Given the description of an element on the screen output the (x, y) to click on. 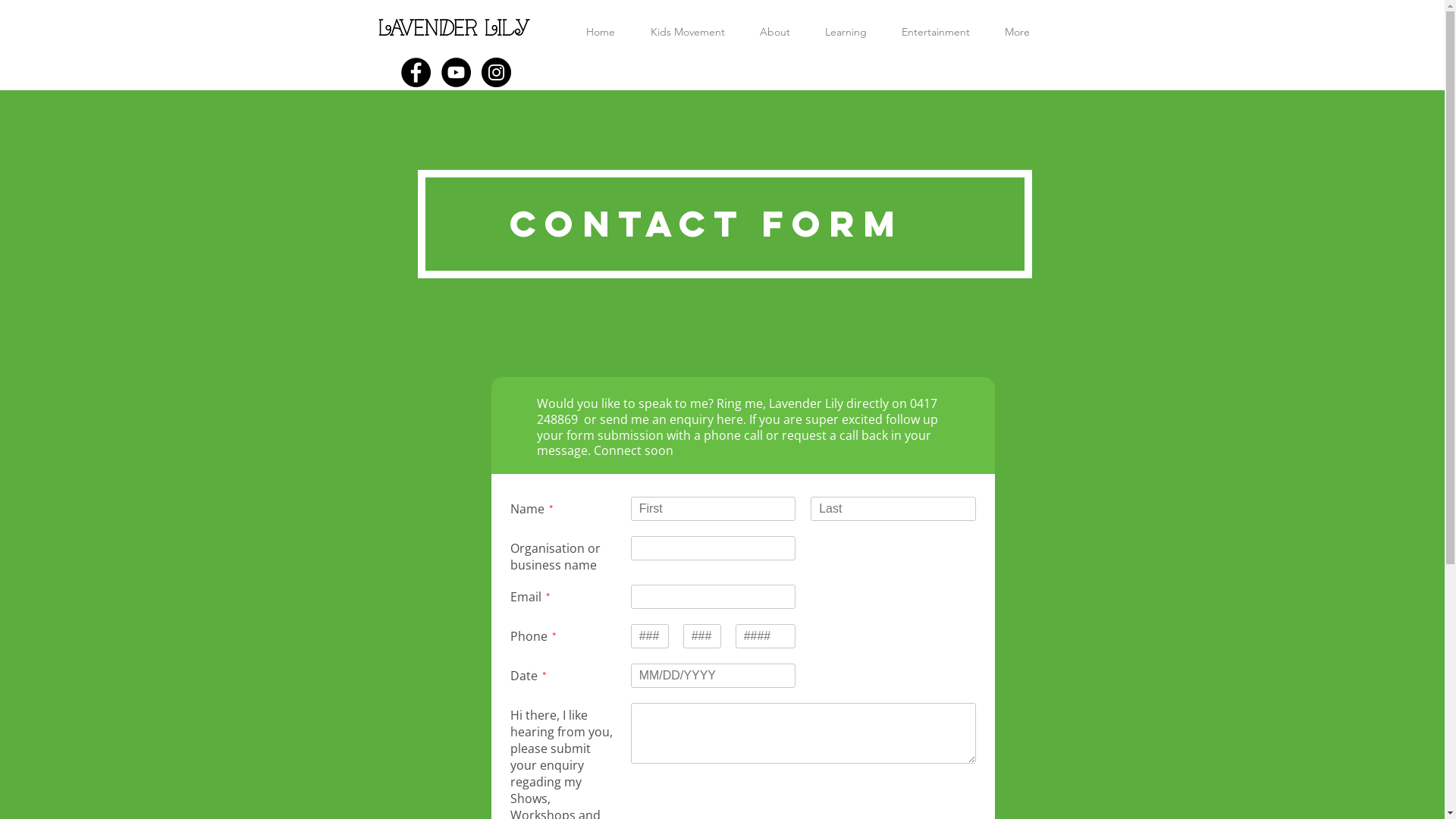
Entertainment Element type: text (935, 31)
Kids Movement Element type: text (686, 31)
About Element type: text (773, 31)
Home Element type: text (600, 31)
